Given the description of an element on the screen output the (x, y) to click on. 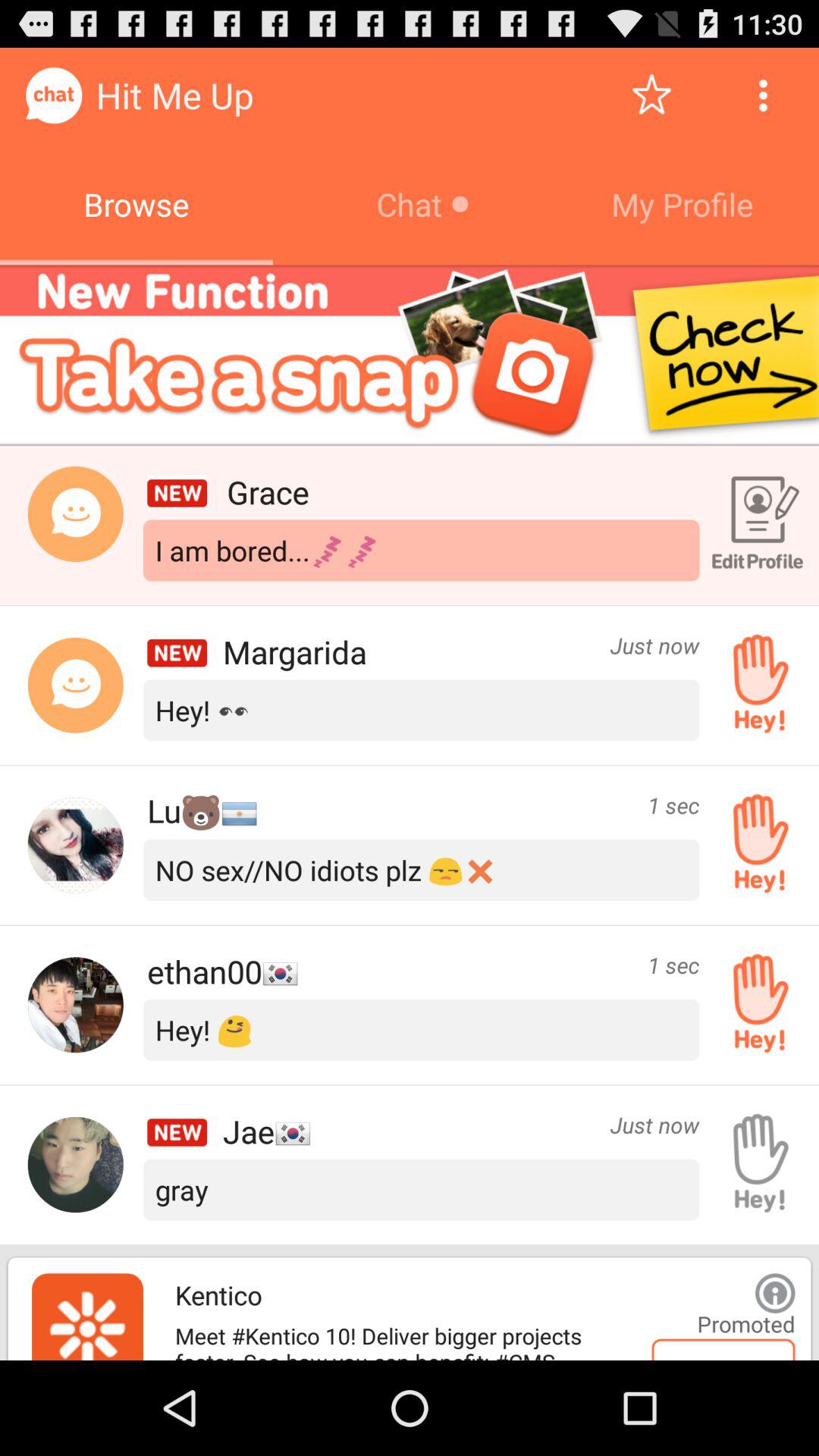
give rating (651, 95)
